Given the description of an element on the screen output the (x, y) to click on. 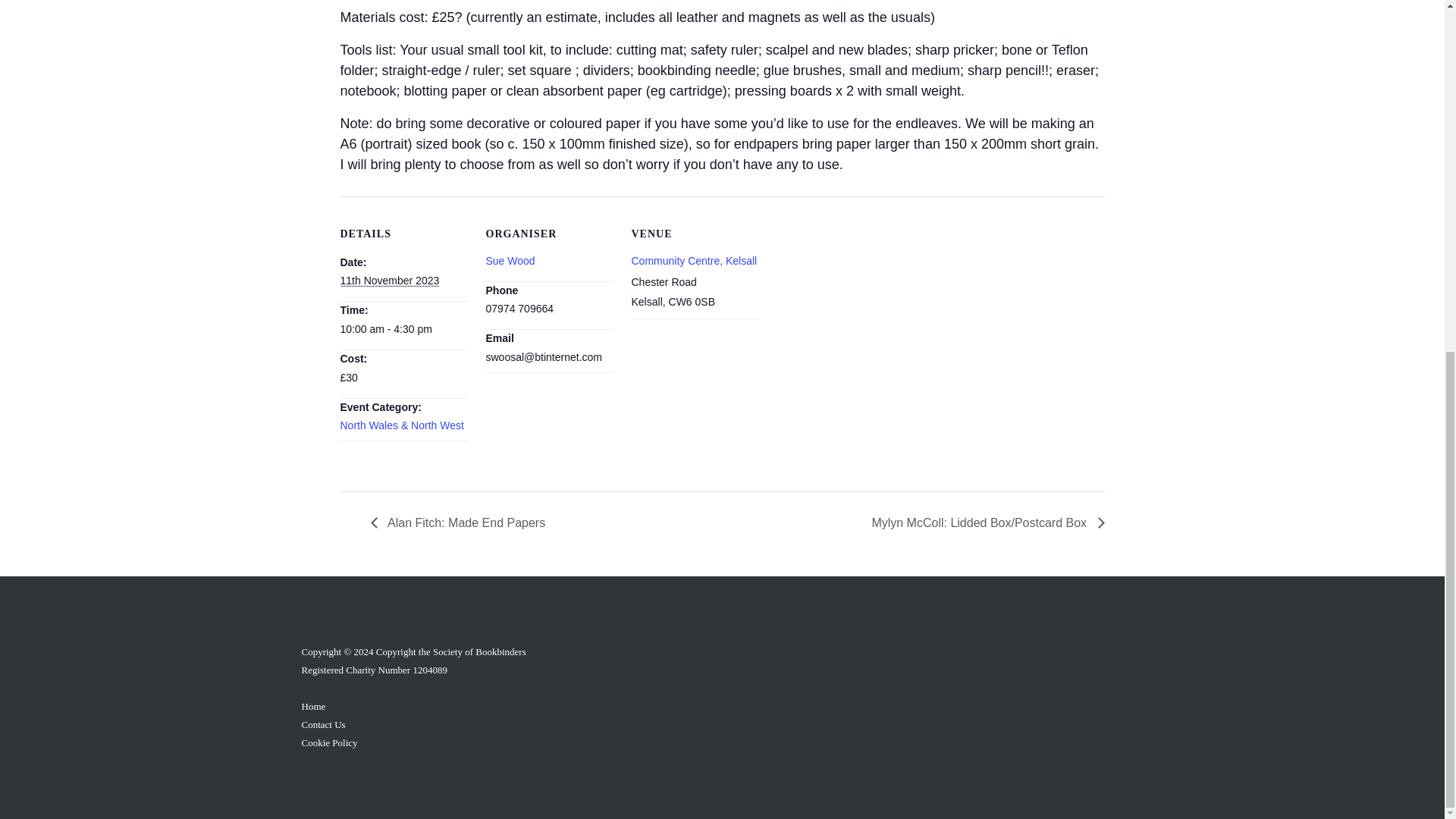
2023-11-11 (389, 280)
2023-11-11 (403, 329)
Sue Wood (509, 260)
